Given the description of an element on the screen output the (x, y) to click on. 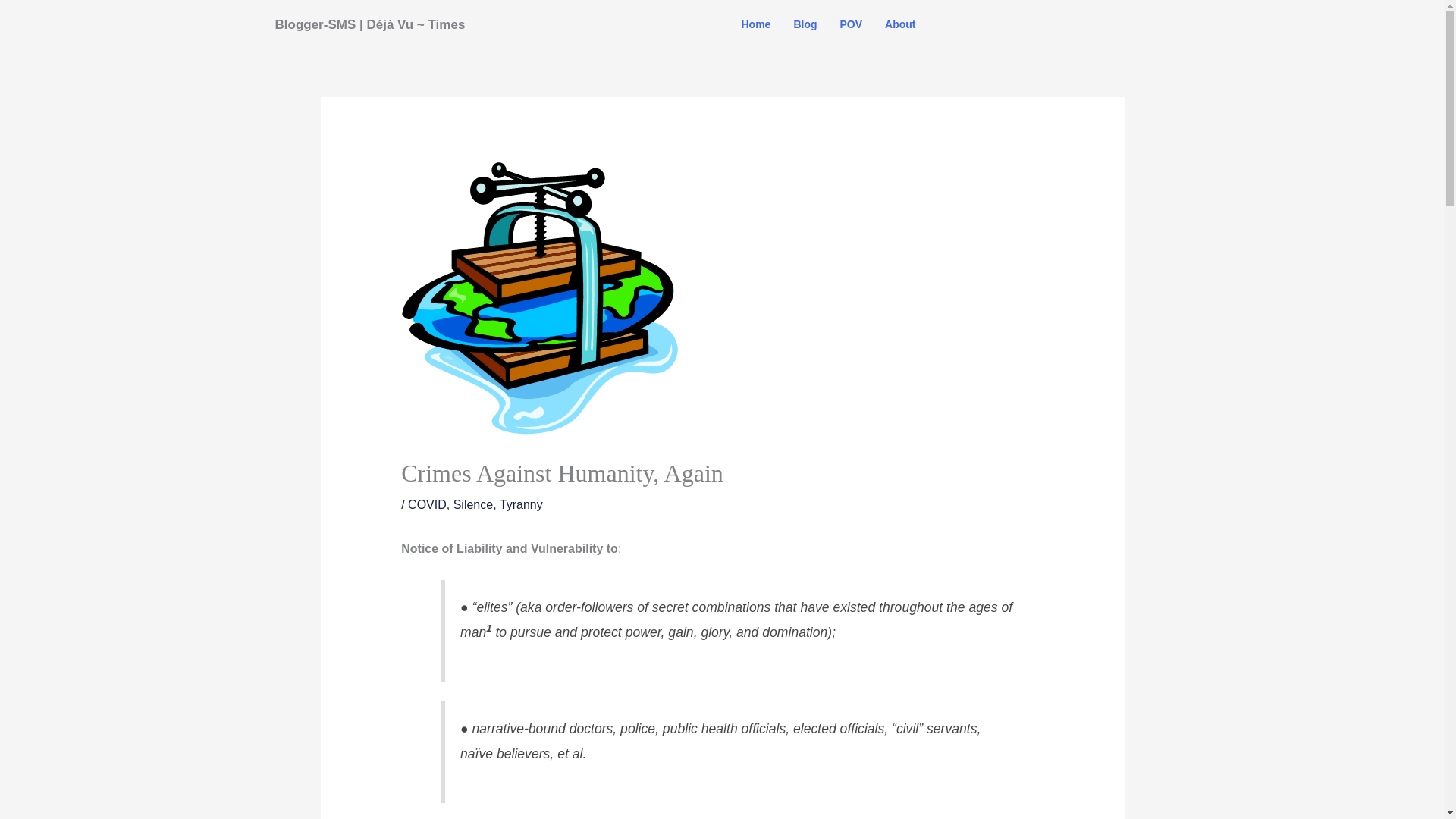
Home (755, 23)
Silence (472, 504)
About (899, 23)
COVID (426, 504)
POV (851, 23)
Tyranny (521, 504)
Blog (804, 23)
